Given the description of an element on the screen output the (x, y) to click on. 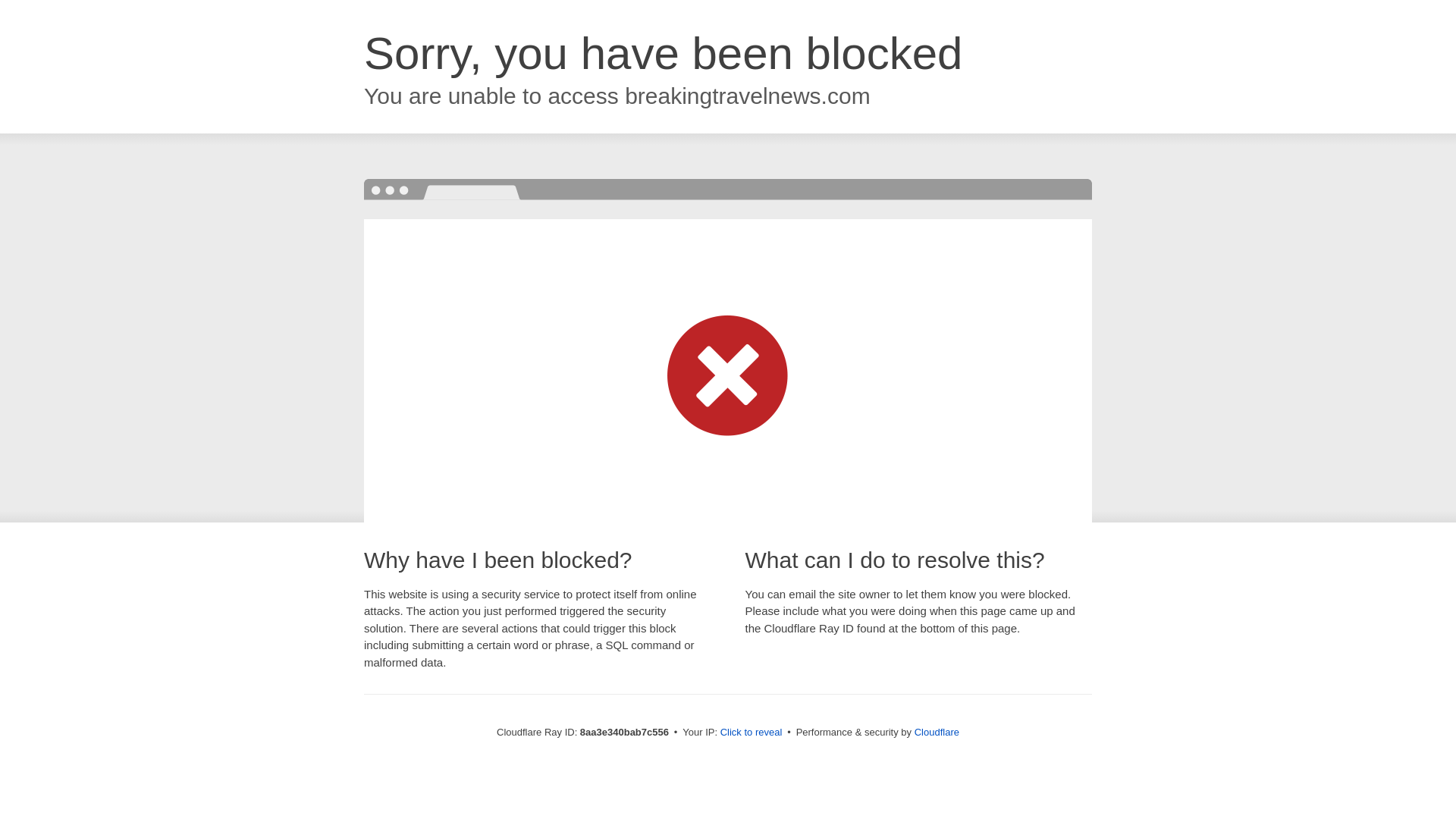
Cloudflare (936, 731)
Click to reveal (751, 732)
